Given the description of an element on the screen output the (x, y) to click on. 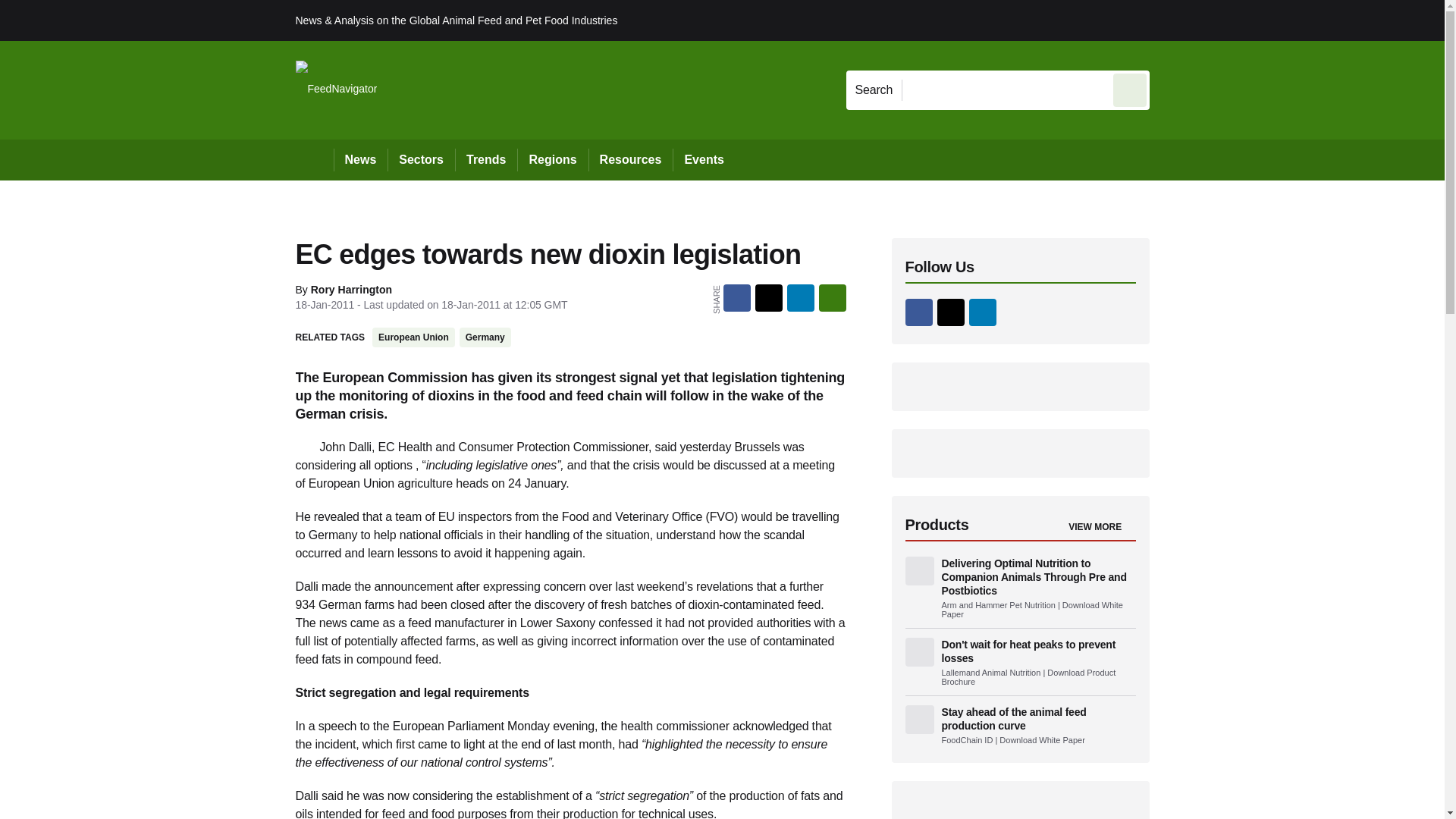
My account (1256, 20)
REGISTER (1250, 20)
Trends (485, 159)
Send (1129, 89)
Sign out (1174, 20)
News (360, 159)
